Given the description of an element on the screen output the (x, y) to click on. 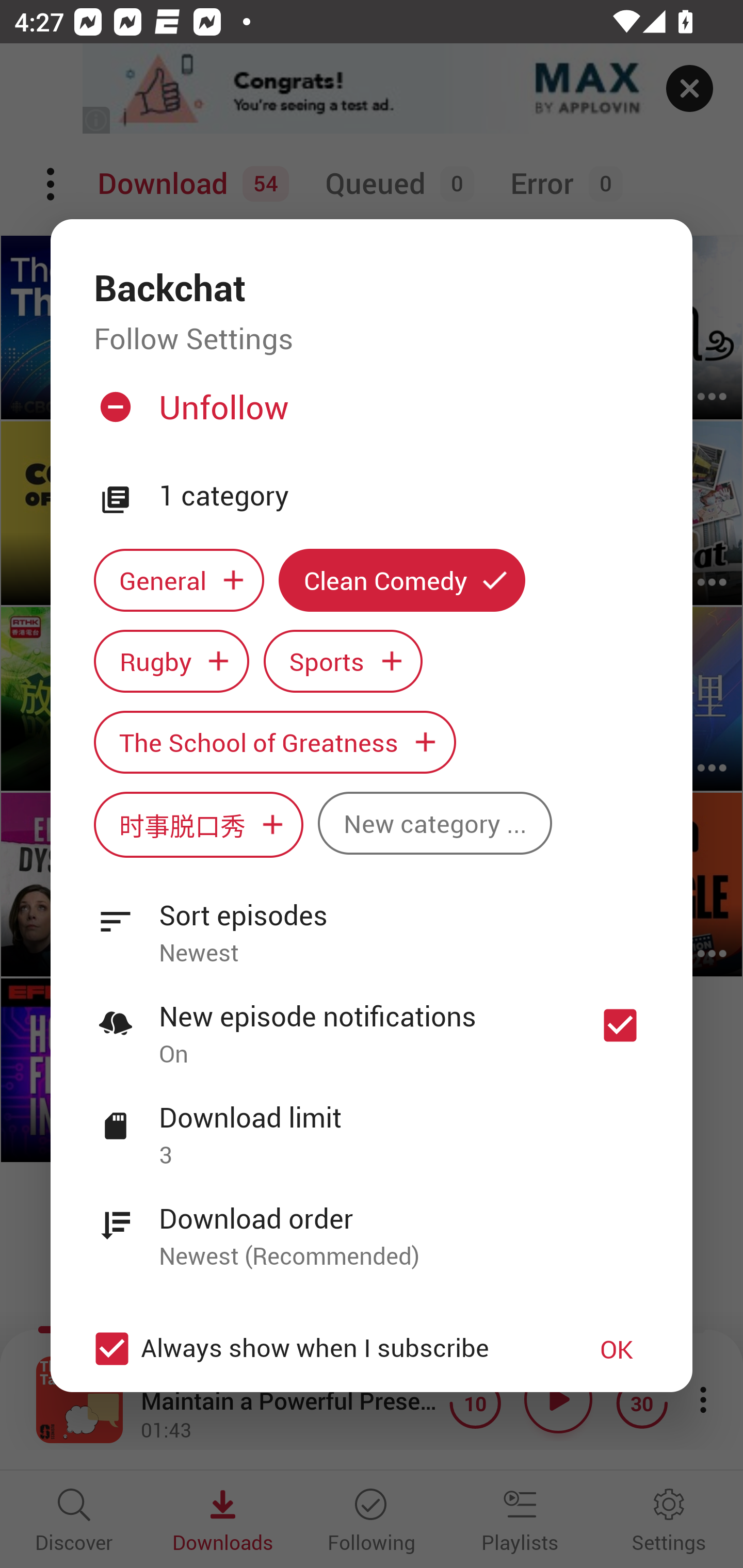
Unfollow (369, 415)
1 category (404, 495)
General (178, 579)
Clean Comedy (401, 579)
Rugby (170, 661)
Sports (342, 661)
The School of Greatness (274, 741)
时事脱口秀 (198, 824)
New category ... (435, 822)
Sort episodes Newest (371, 922)
New episode notifications (620, 1025)
Download limit 3 (371, 1125)
Download order Newest (Recommended) (371, 1226)
OK (616, 1349)
Always show when I subscribe (320, 1349)
